Given the description of an element on the screen output the (x, y) to click on. 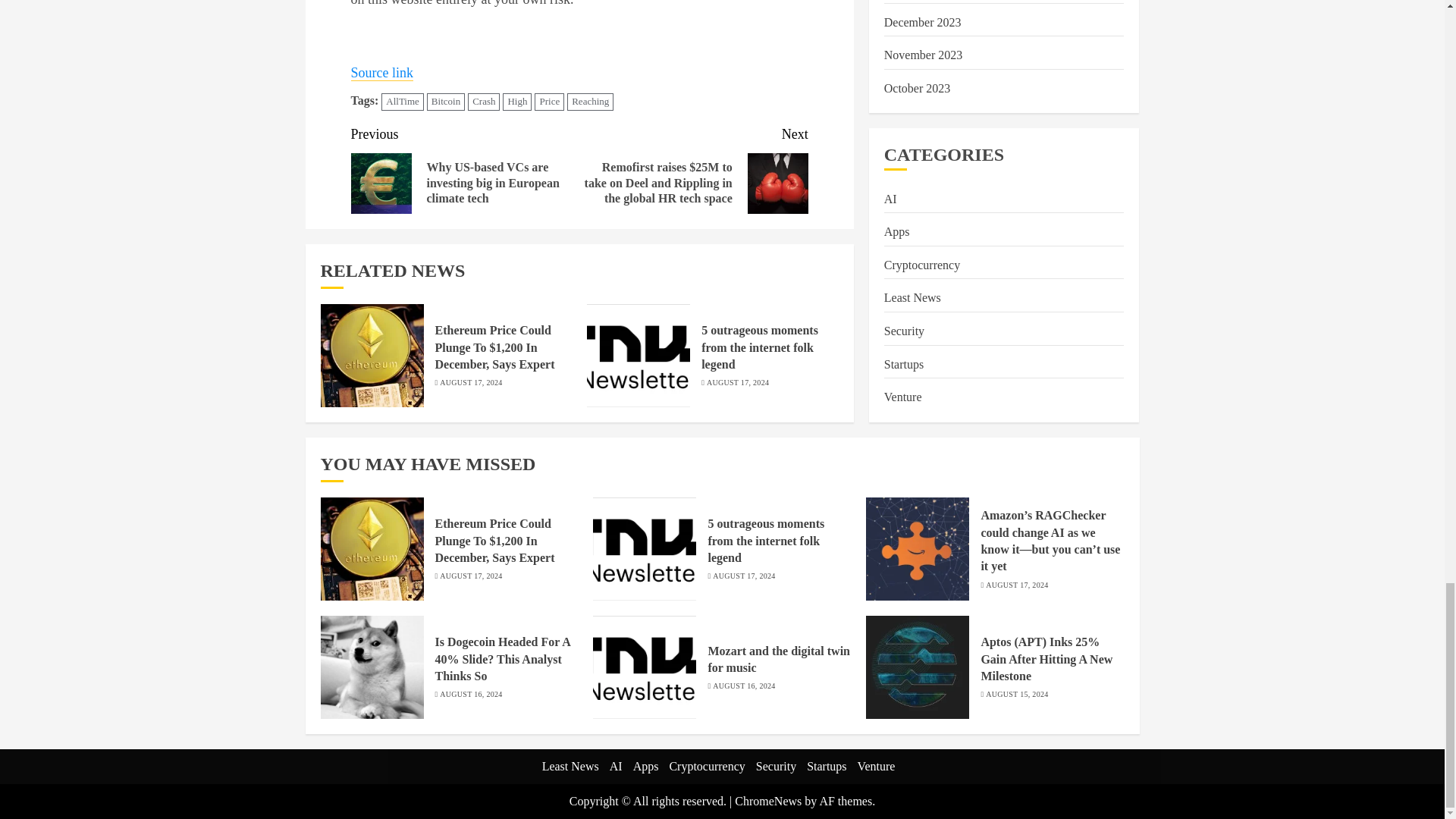
Source link (381, 73)
Bitcoin (445, 101)
AllTime (402, 101)
Crash (483, 101)
